Given the description of an element on the screen output the (x, y) to click on. 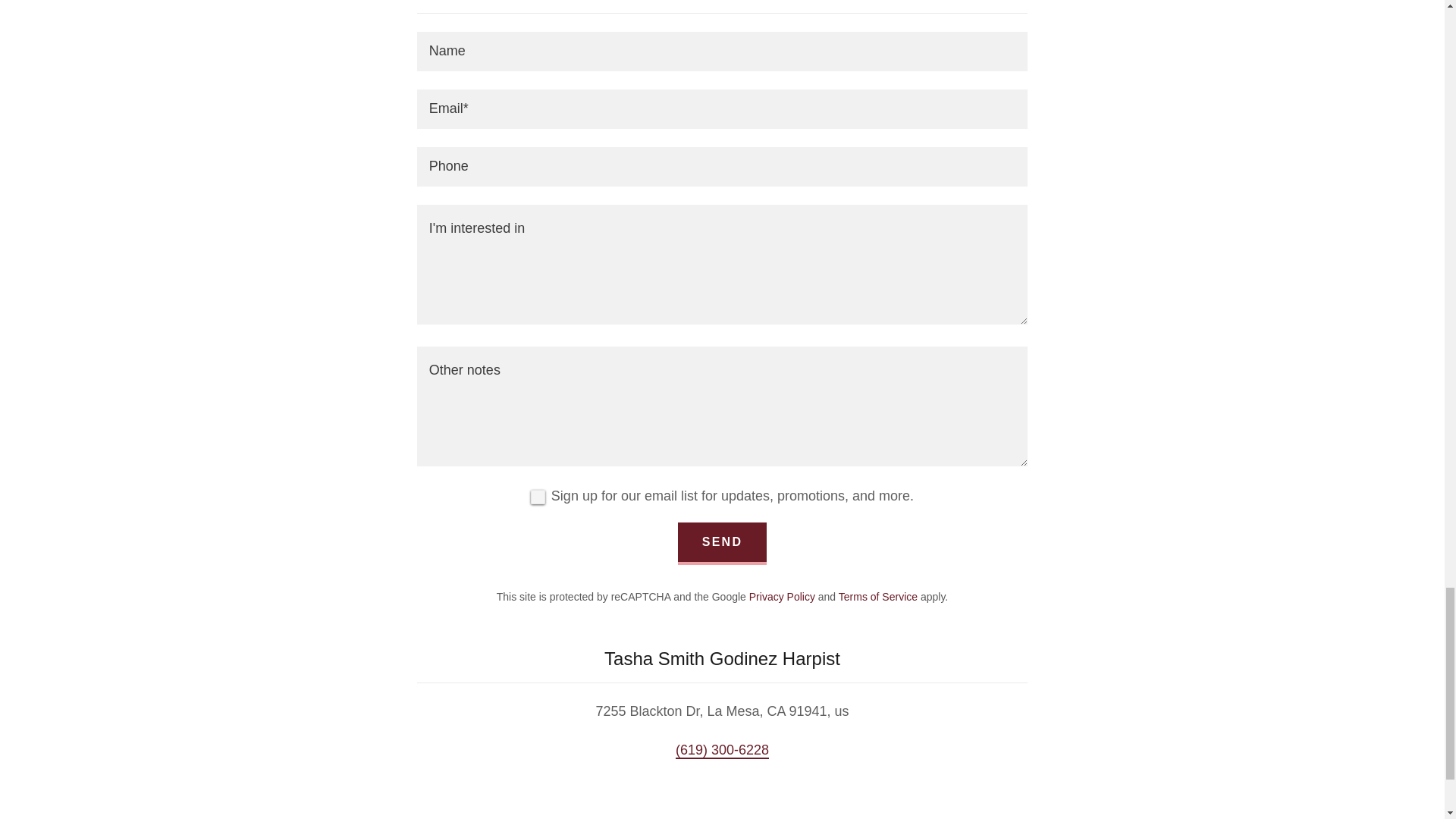
SEND (722, 542)
Terms of Service (877, 595)
Privacy Policy (782, 595)
